Given the description of an element on the screen output the (x, y) to click on. 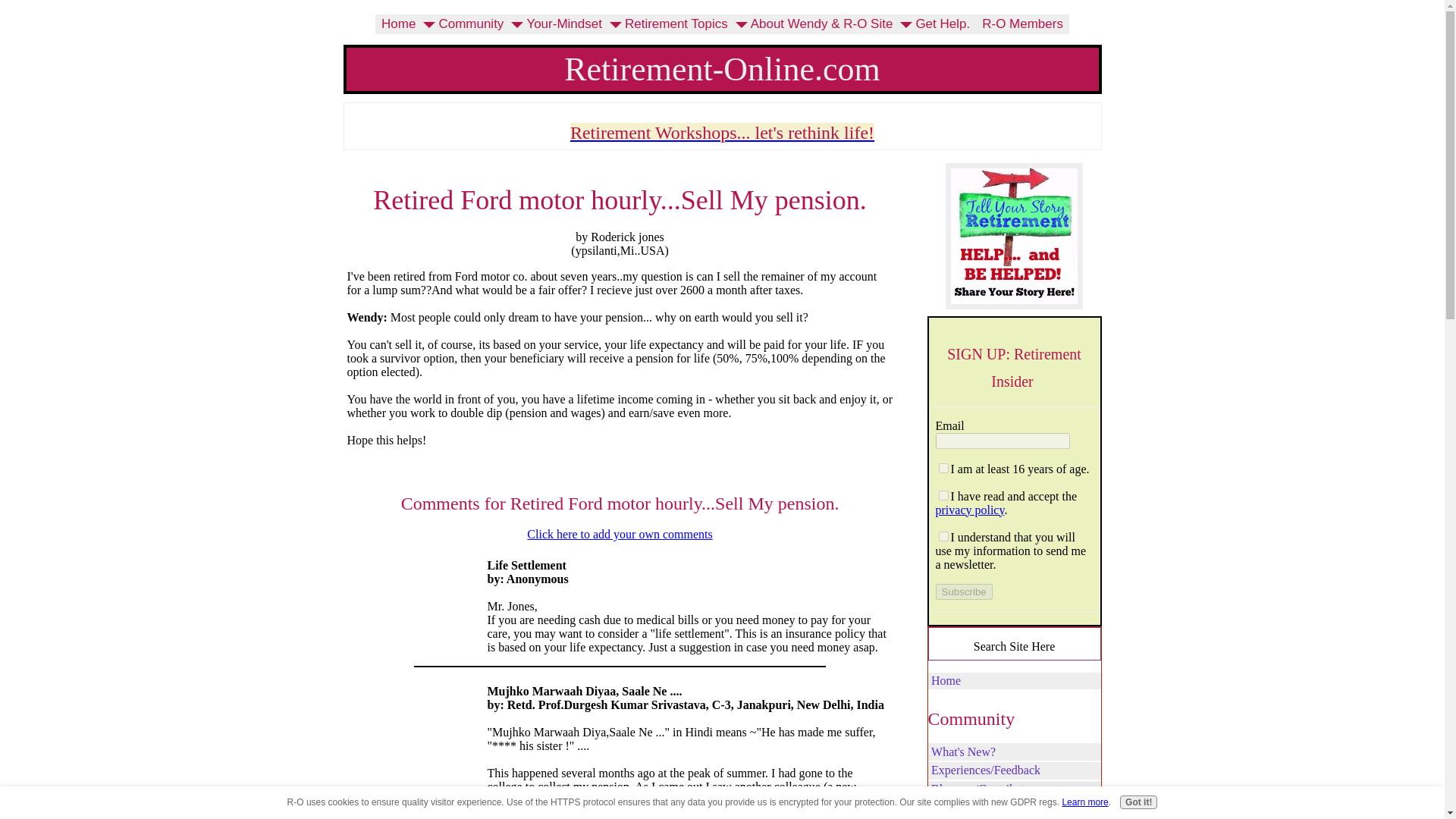
on (944, 495)
Go to Great Retirement Advice Here from Retirees  (1013, 305)
Retirement-Online.com (722, 68)
Home (398, 24)
on (944, 536)
on (944, 468)
